Given the description of an element on the screen output the (x, y) to click on. 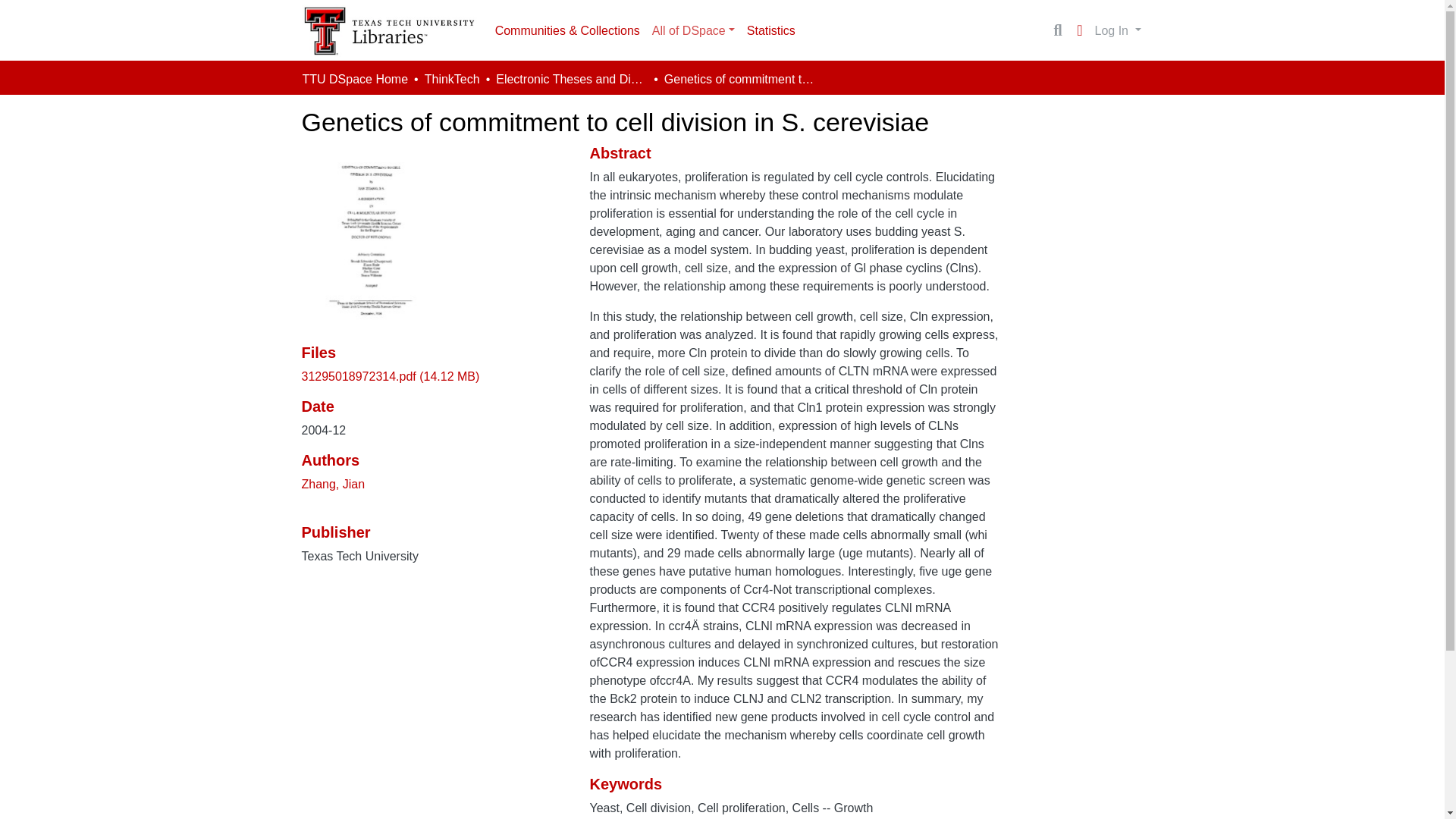
Statistics (771, 30)
Language switch (1079, 30)
ThinkTech (452, 79)
Statistics (771, 30)
Electronic Theses and Dissertations (571, 79)
Log In (1117, 30)
All of DSpace (693, 30)
Search (1057, 30)
TTU DSpace Home (354, 79)
Zhang, Jian (333, 483)
